Given the description of an element on the screen output the (x, y) to click on. 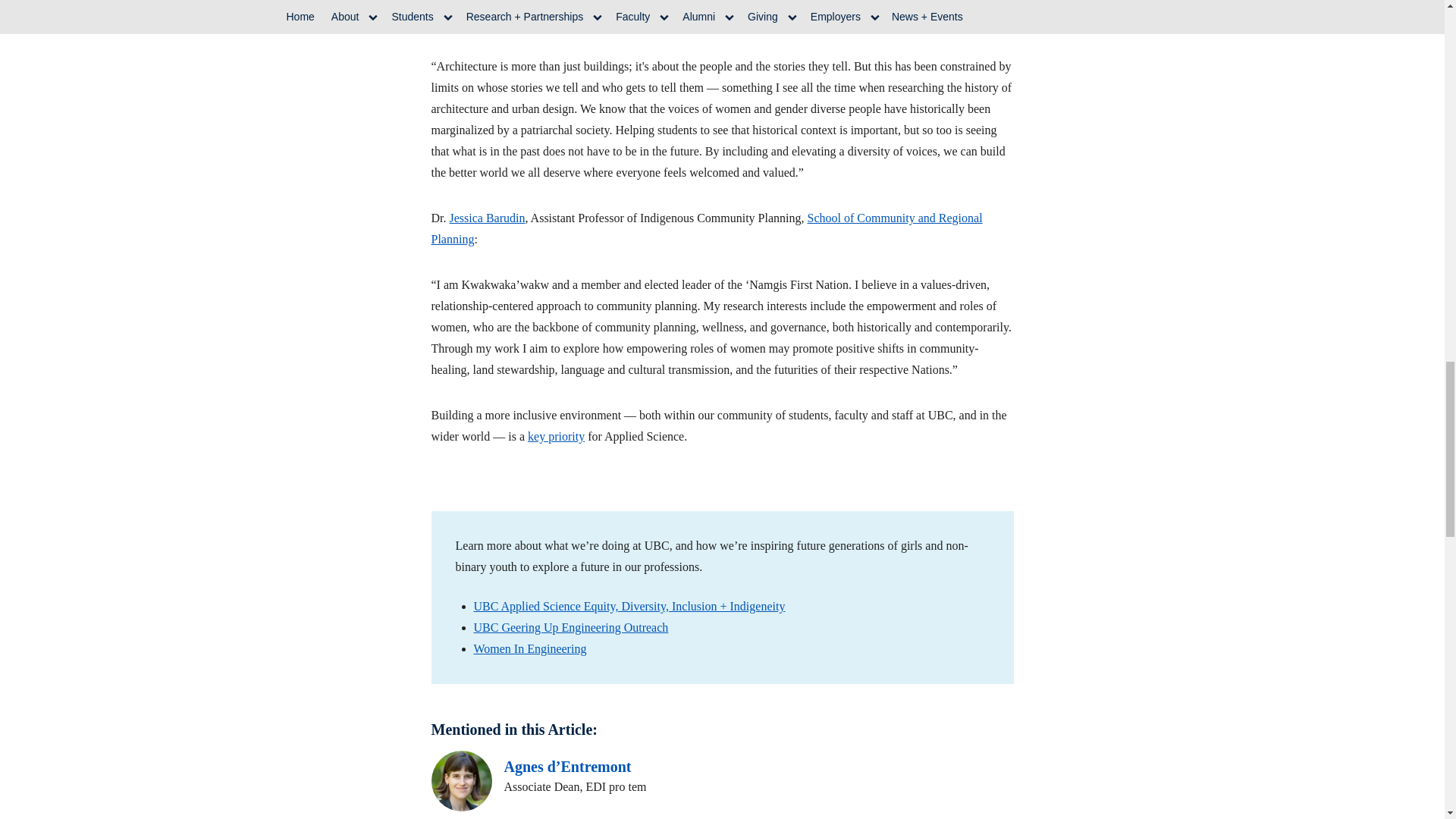
School of Architecture and Landscape Architecture (742, 20)
Jessica Barudin (486, 217)
School of Community and Regional Planning (705, 228)
key priority (556, 436)
Sara Stevens (479, 20)
